Given the description of an element on the screen output the (x, y) to click on. 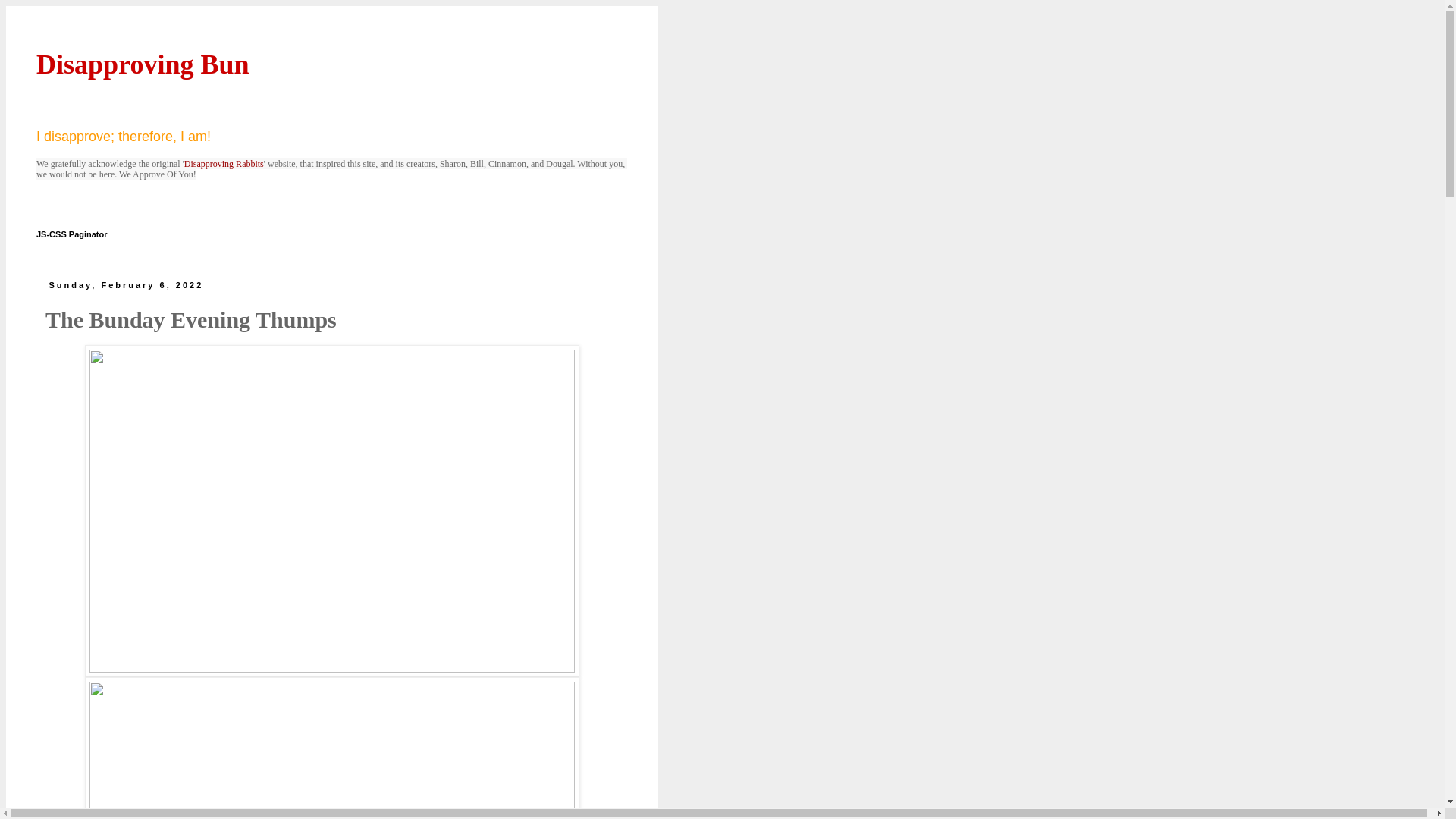
Disapproving Bun (142, 64)
Disapproving Rabbits (223, 163)
